Given the description of an element on the screen output the (x, y) to click on. 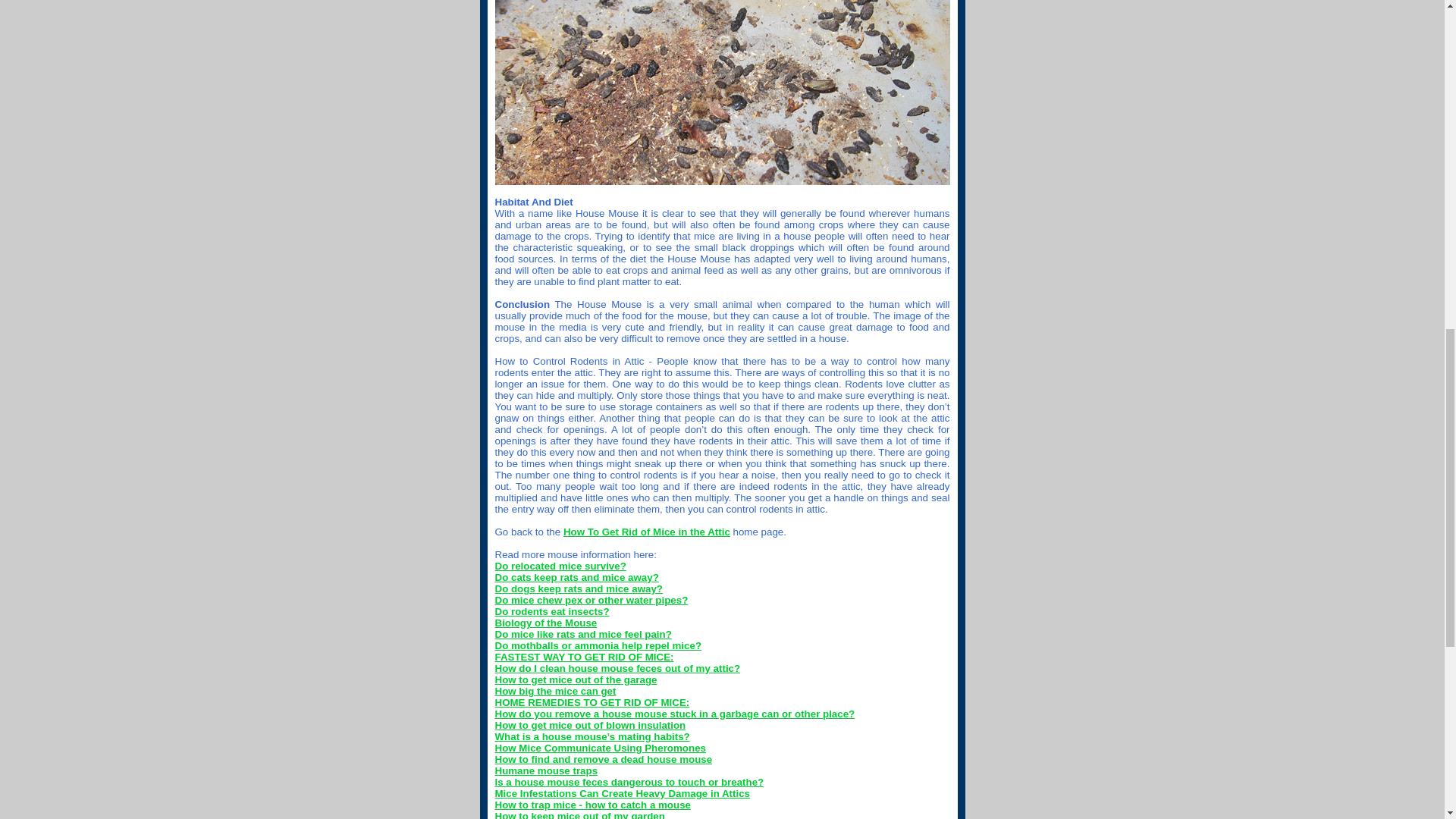
FASTEST WAY TO GET RID OF MICE: (583, 656)
How Mice Communicate Using Pheromones (599, 747)
Do rodents eat insects? (551, 611)
Do cats keep rats and mice away? (576, 577)
Do mothballs or ammonia help repel mice? (598, 645)
Do dogs keep rats and mice away? (578, 588)
Biology of the Mouse (545, 622)
Do mice like rats and mice feel pain? (583, 633)
How to keep mice out of my garden (579, 814)
Humane mouse traps (545, 770)
Do mice chew pex or other water pipes? (591, 600)
How do I clean house mouse feces out of my attic? (617, 668)
How to trap mice - how to catch a mouse (592, 804)
Mice Infestations Can Create Heavy Damage in Attics (622, 793)
